Given the description of an element on the screen output the (x, y) to click on. 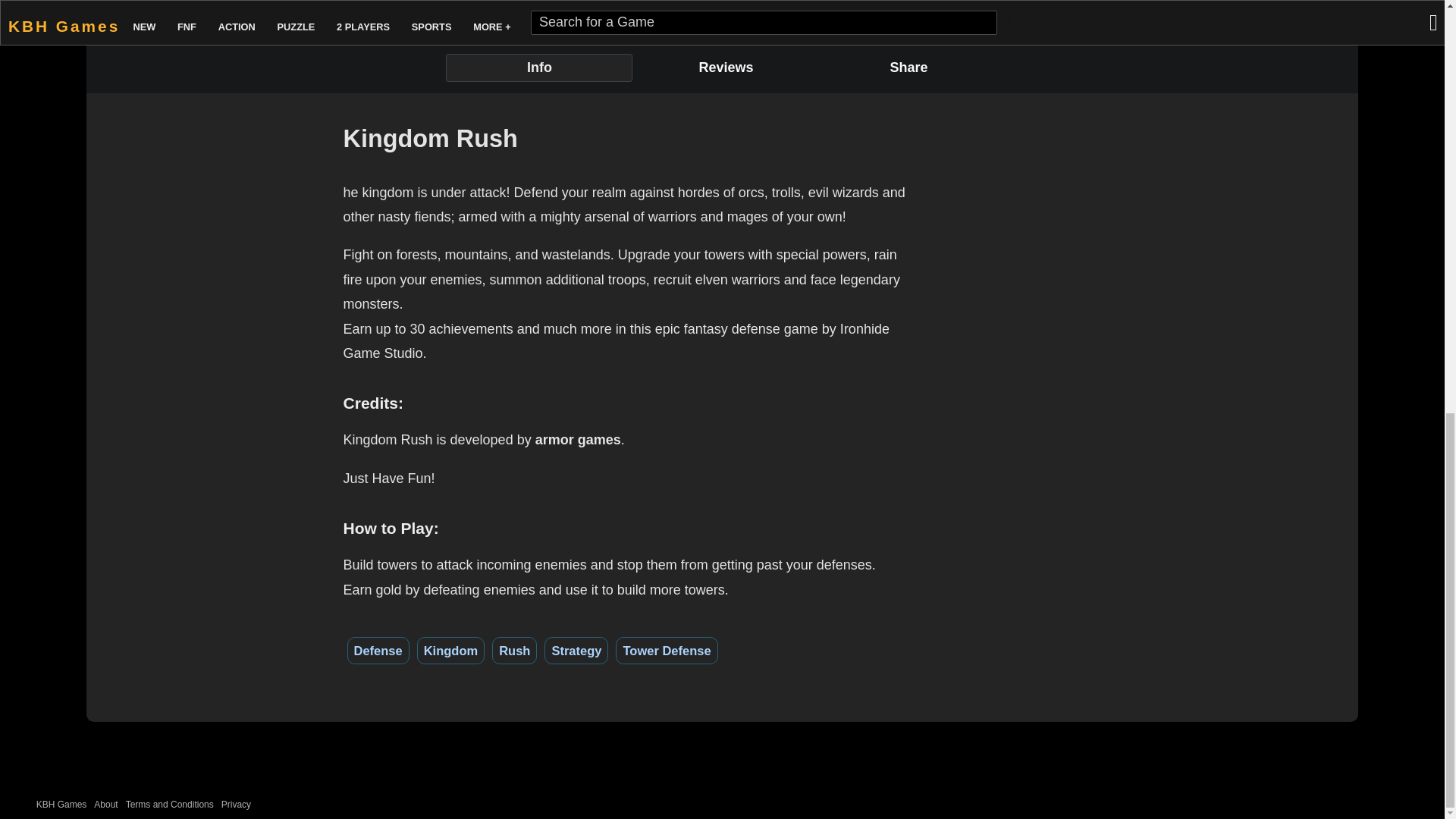
Bloons Tower Defense 5 (191, 1)
Tower Defense: Defense Legend (357, 1)
Portal TD - Tower Defense (525, 1)
